Given the description of an element on the screen output the (x, y) to click on. 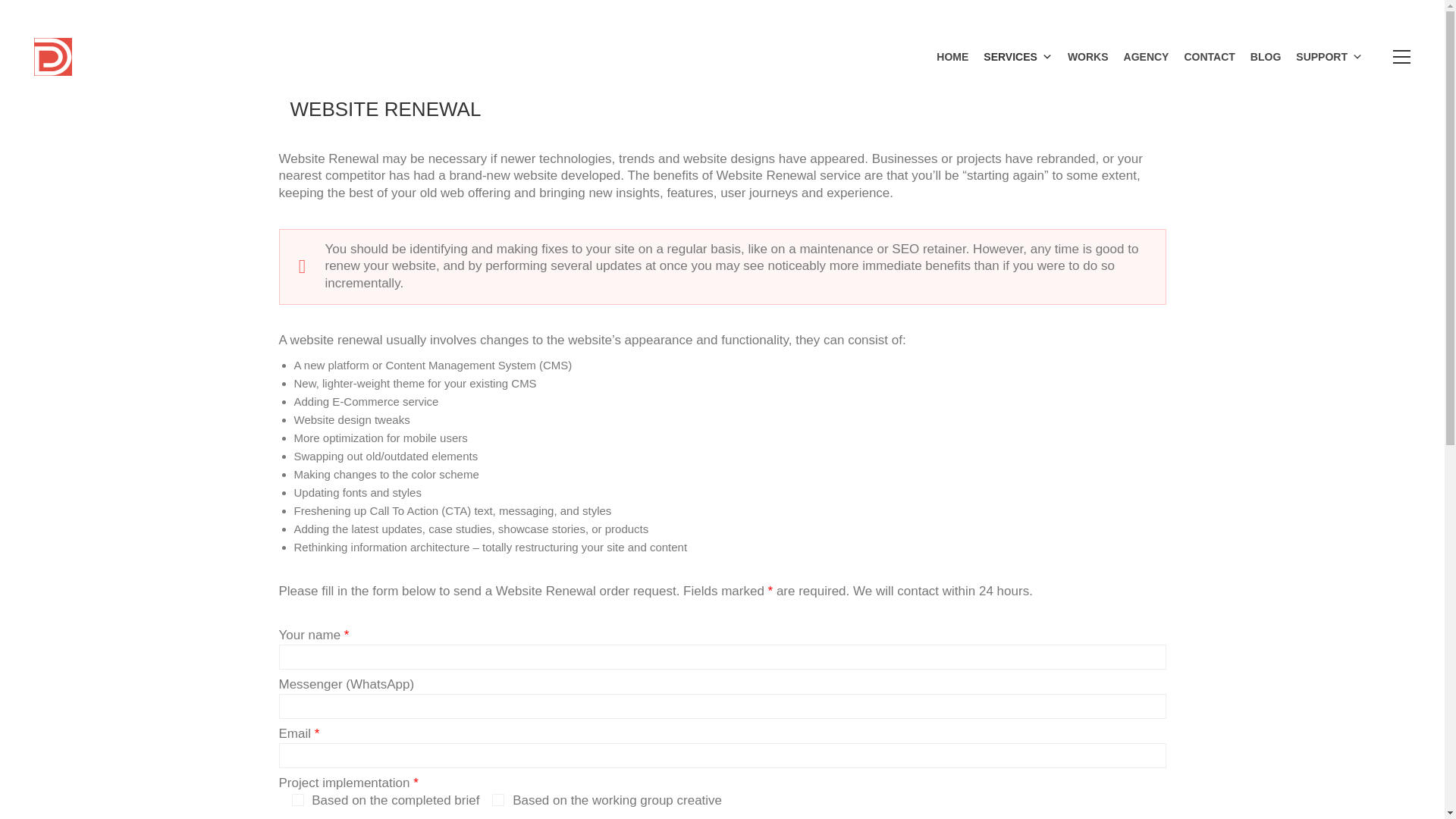
Based on the completed brief (296, 799)
HOME (951, 56)
Based on the working group creative (497, 799)
